Given the description of an element on the screen output the (x, y) to click on. 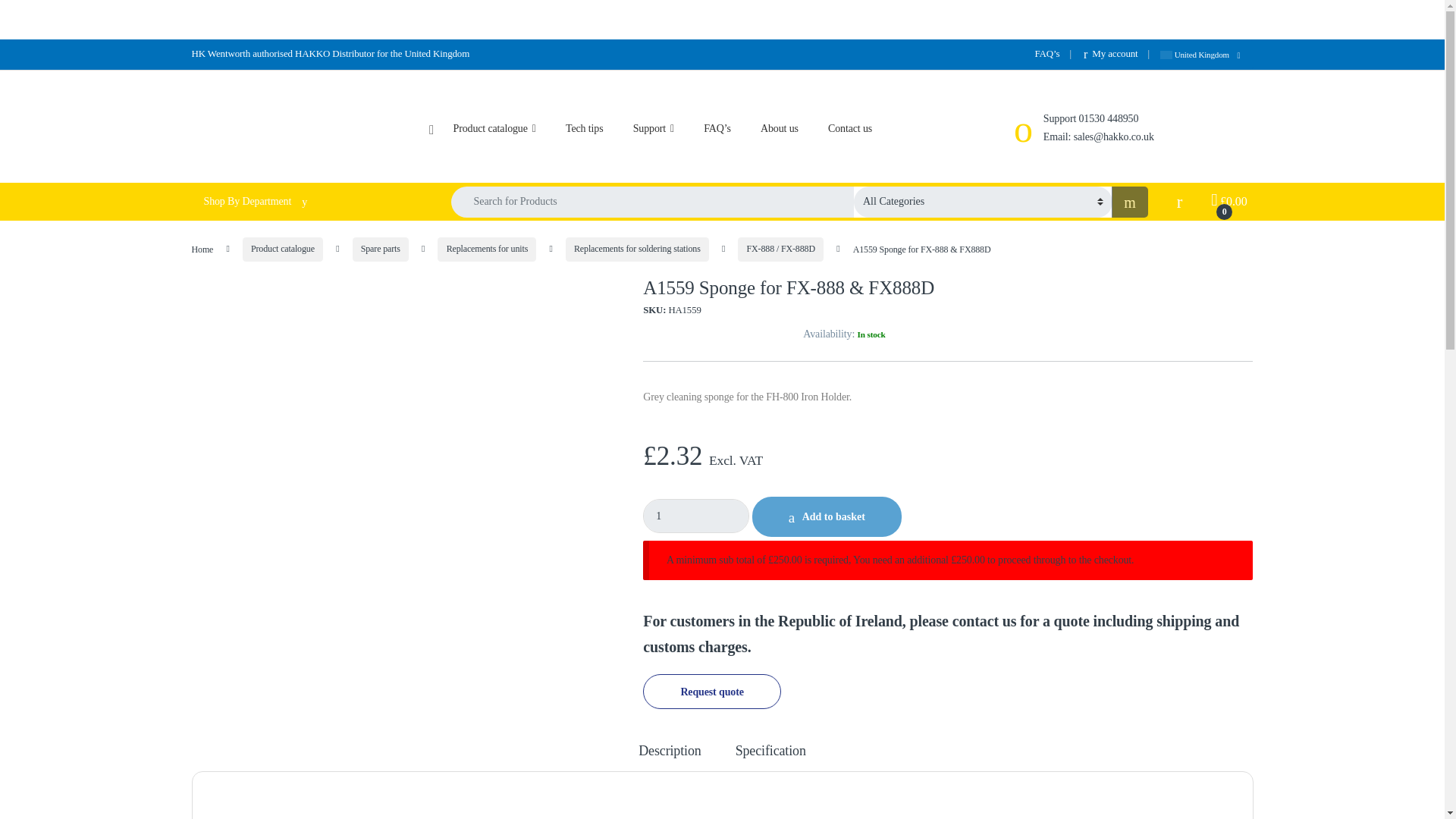
1 (696, 515)
FAQ's (1045, 53)
My account (1109, 53)
 My account (1109, 53)
United Kingdom (1205, 54)
